Given the description of an element on the screen output the (x, y) to click on. 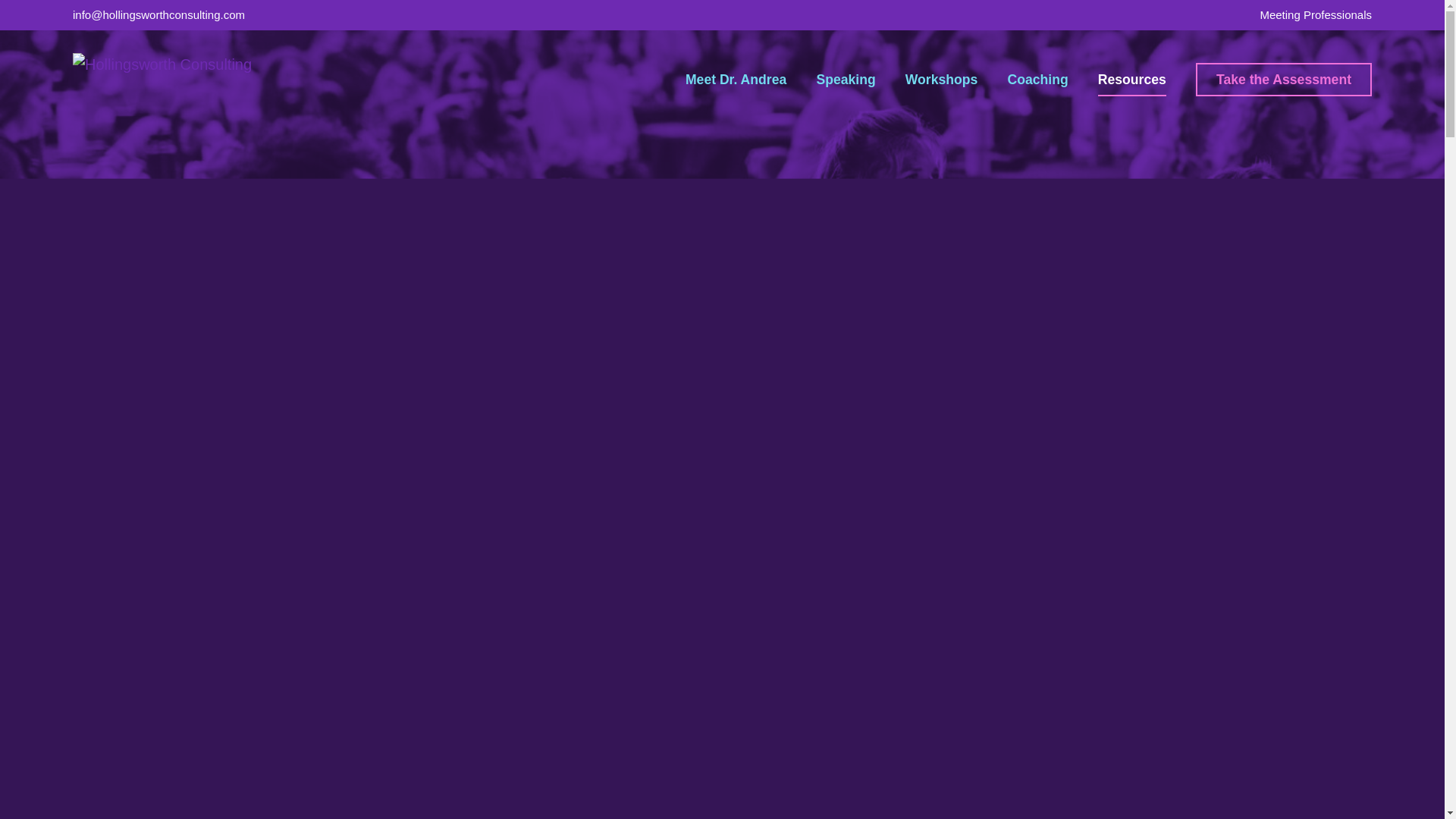
Workshops (940, 79)
Take the Assessment (1283, 79)
Coaching (1037, 79)
Resources (1131, 79)
Meeting Professionals (1315, 15)
Meet Dr. Andrea (735, 79)
Speaking (845, 79)
